Given the description of an element on the screen output the (x, y) to click on. 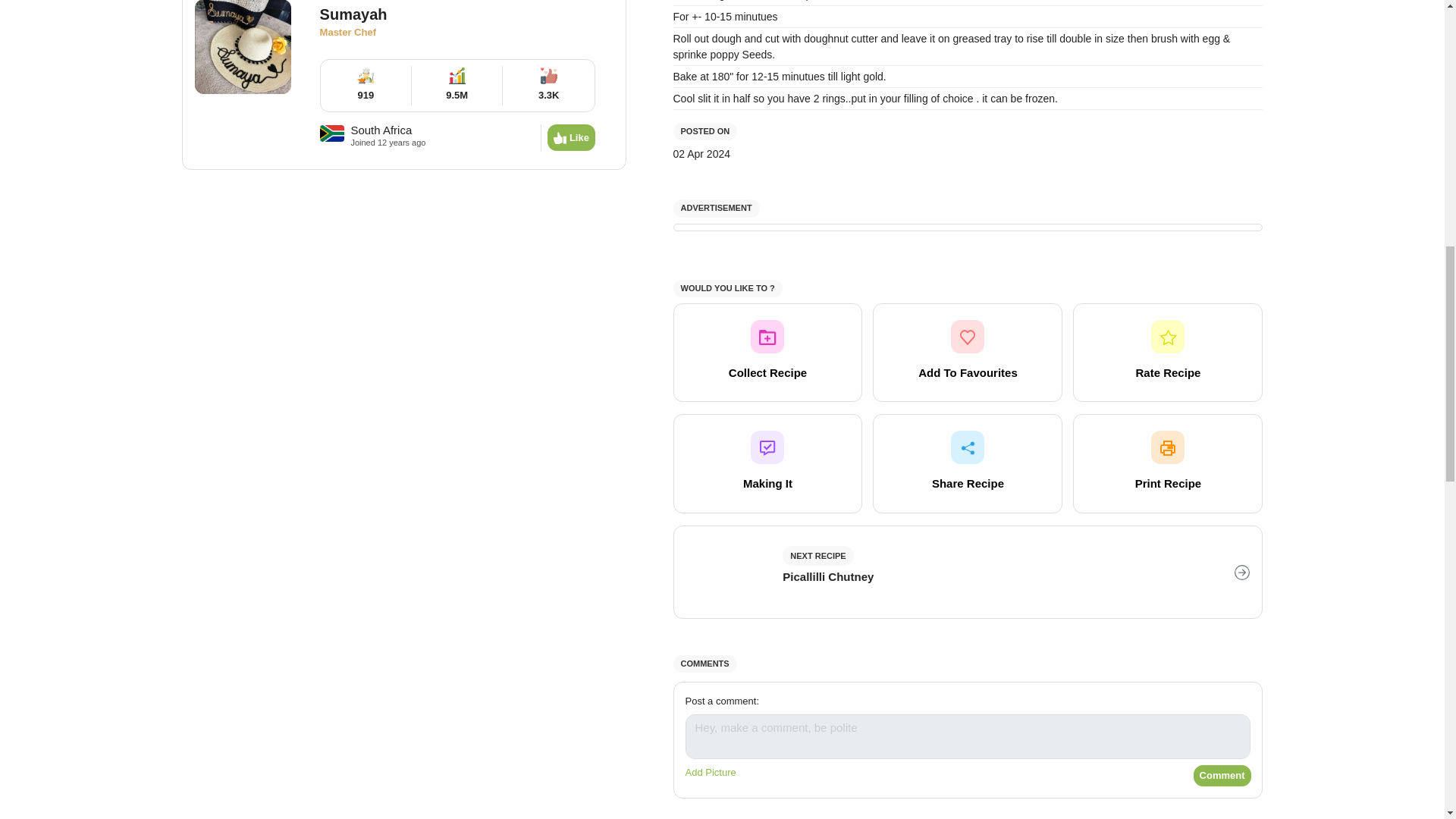
Sumayah (457, 20)
Go to the next recipe (967, 572)
Like (571, 137)
Comment (1221, 775)
